Given the description of an element on the screen output the (x, y) to click on. 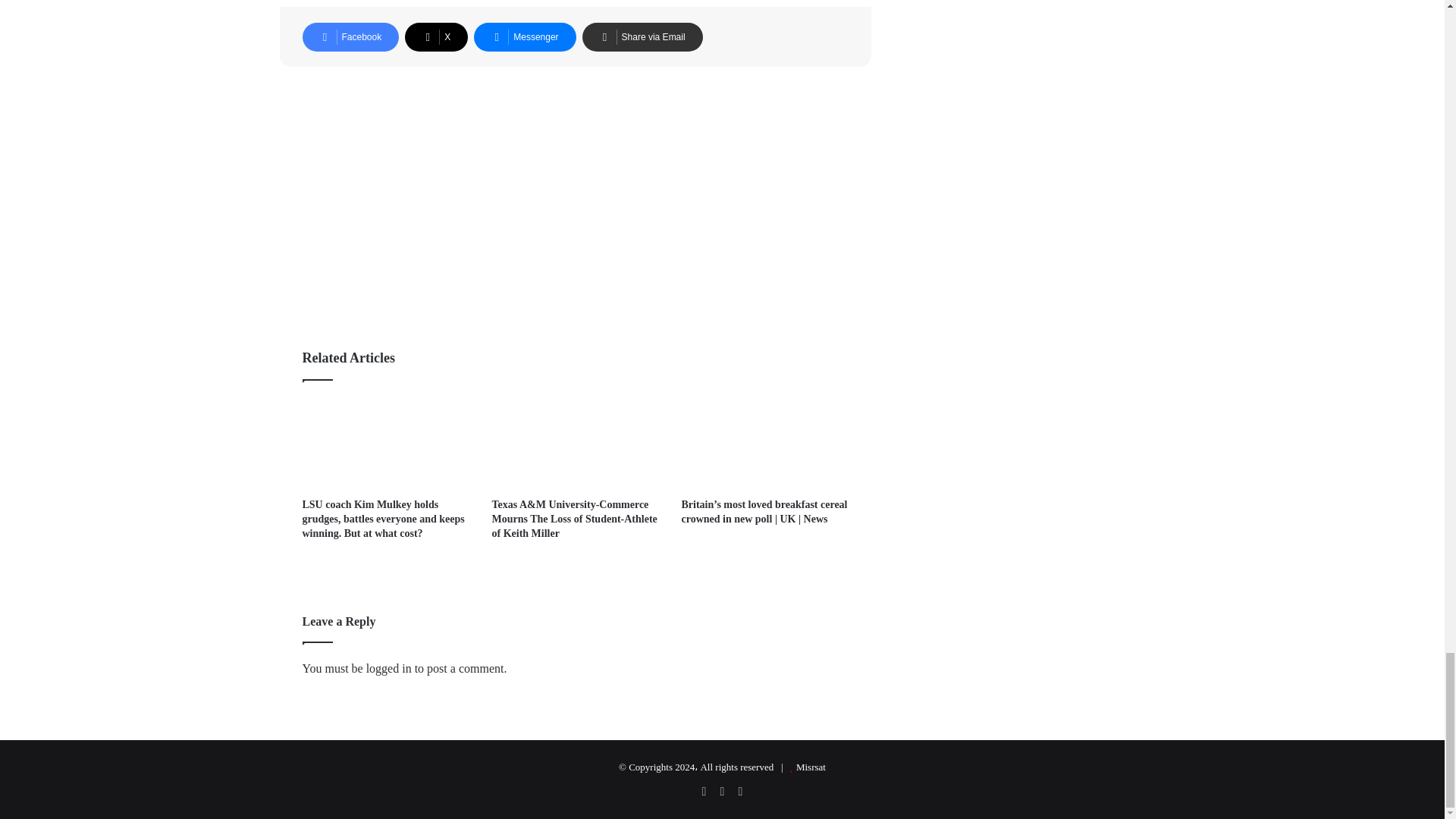
logged in (389, 667)
Facebook (349, 36)
Facebook (349, 36)
X (435, 36)
Messenger (524, 36)
Messenger (524, 36)
Share via Email (642, 36)
X (435, 36)
